Given the description of an element on the screen output the (x, y) to click on. 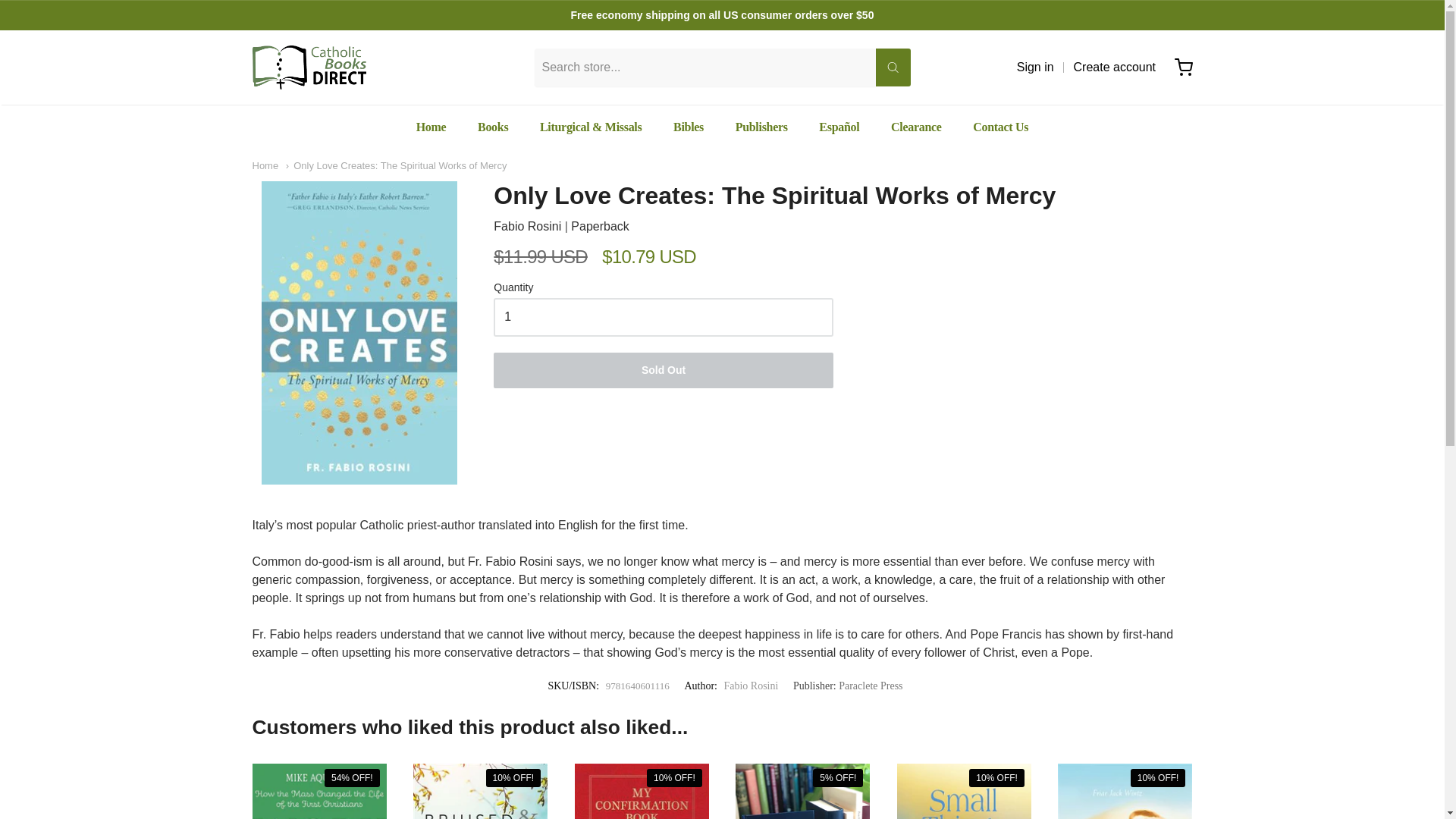
Create account (1115, 67)
Bruised and Wounded: Struggling to Understand Suicide (480, 791)
Paraclete Press (870, 685)
Sign in (1035, 67)
Home (431, 127)
Only Love Creates: The Spiritual Works of Mercy (395, 165)
1 (662, 316)
Books (492, 127)
Catholic Books Direct (308, 67)
Home (264, 165)
My Confirmation Book (642, 791)
